Given the description of an element on the screen output the (x, y) to click on. 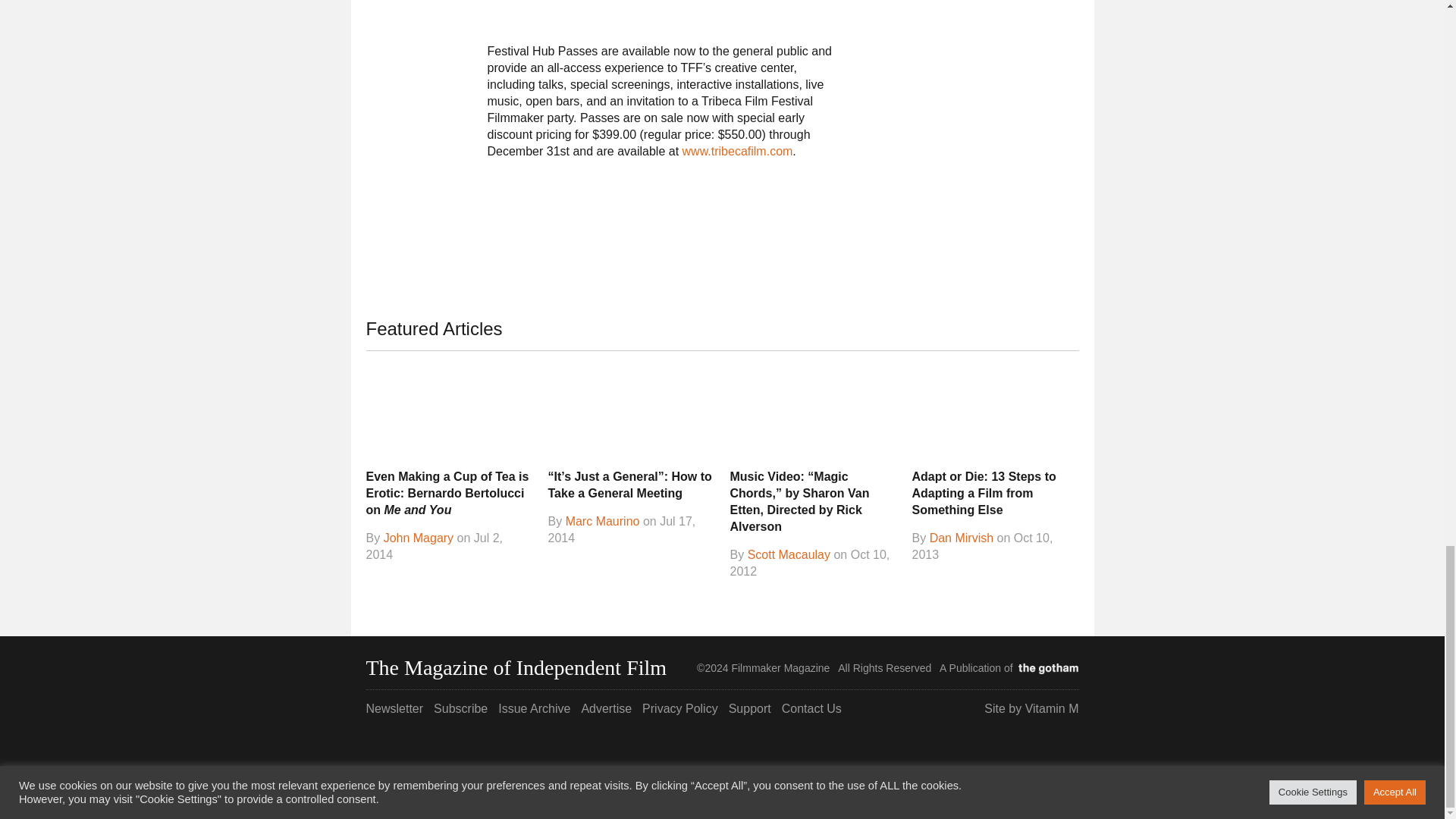
Posts by John Magary (419, 538)
Posts by Scott Macaulay (788, 554)
Posts by Dan Mirvish (961, 538)
Posts by Marc Maurino (603, 521)
